Given the description of an element on the screen output the (x, y) to click on. 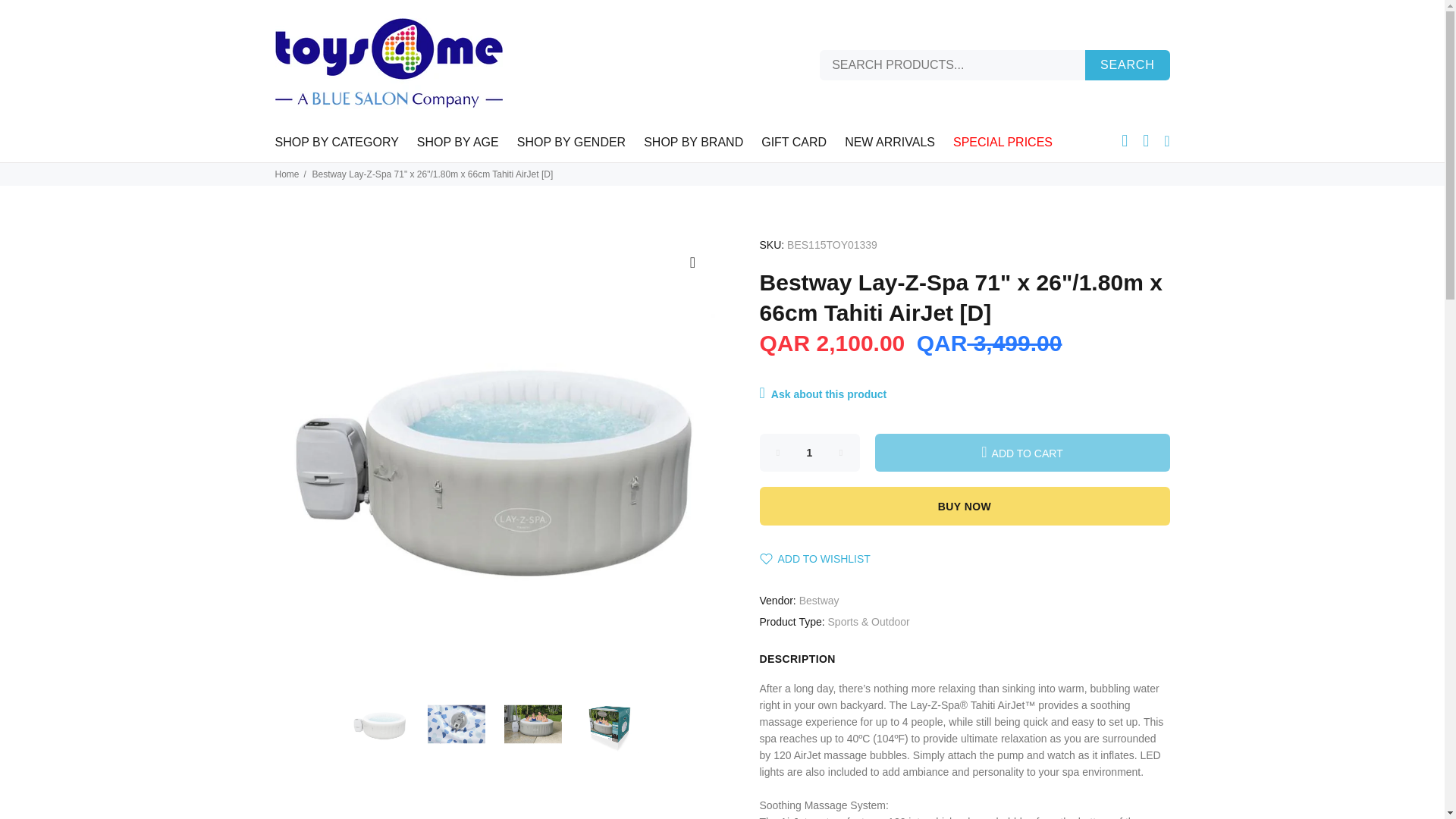
1 (810, 452)
Bestway (819, 600)
